Given the description of an element on the screen output the (x, y) to click on. 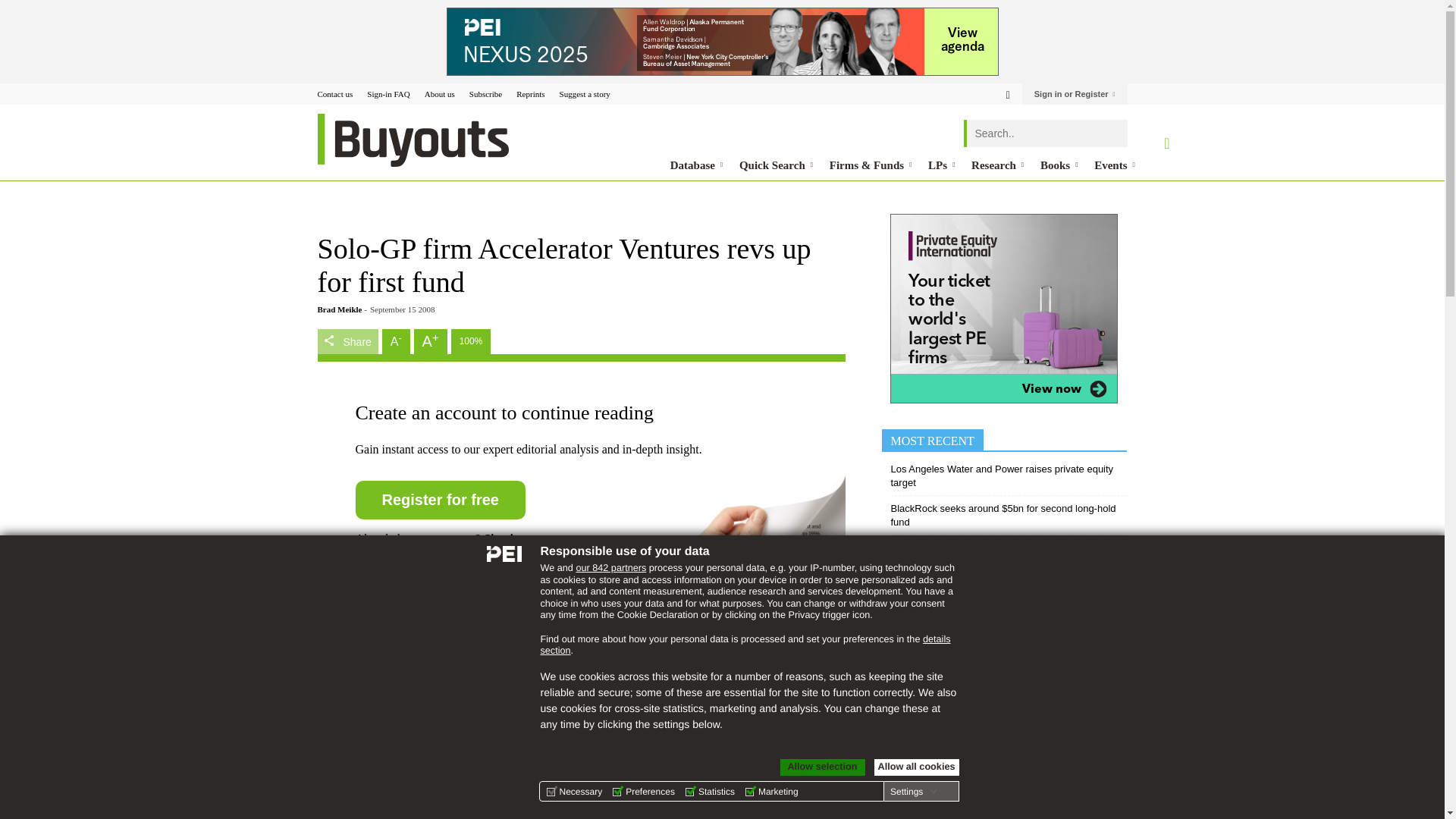
our 842 partners (610, 567)
Allow all cookies (915, 767)
Settings (913, 791)
details section (745, 644)
Allow selection (821, 767)
